Given the description of an element on the screen output the (x, y) to click on. 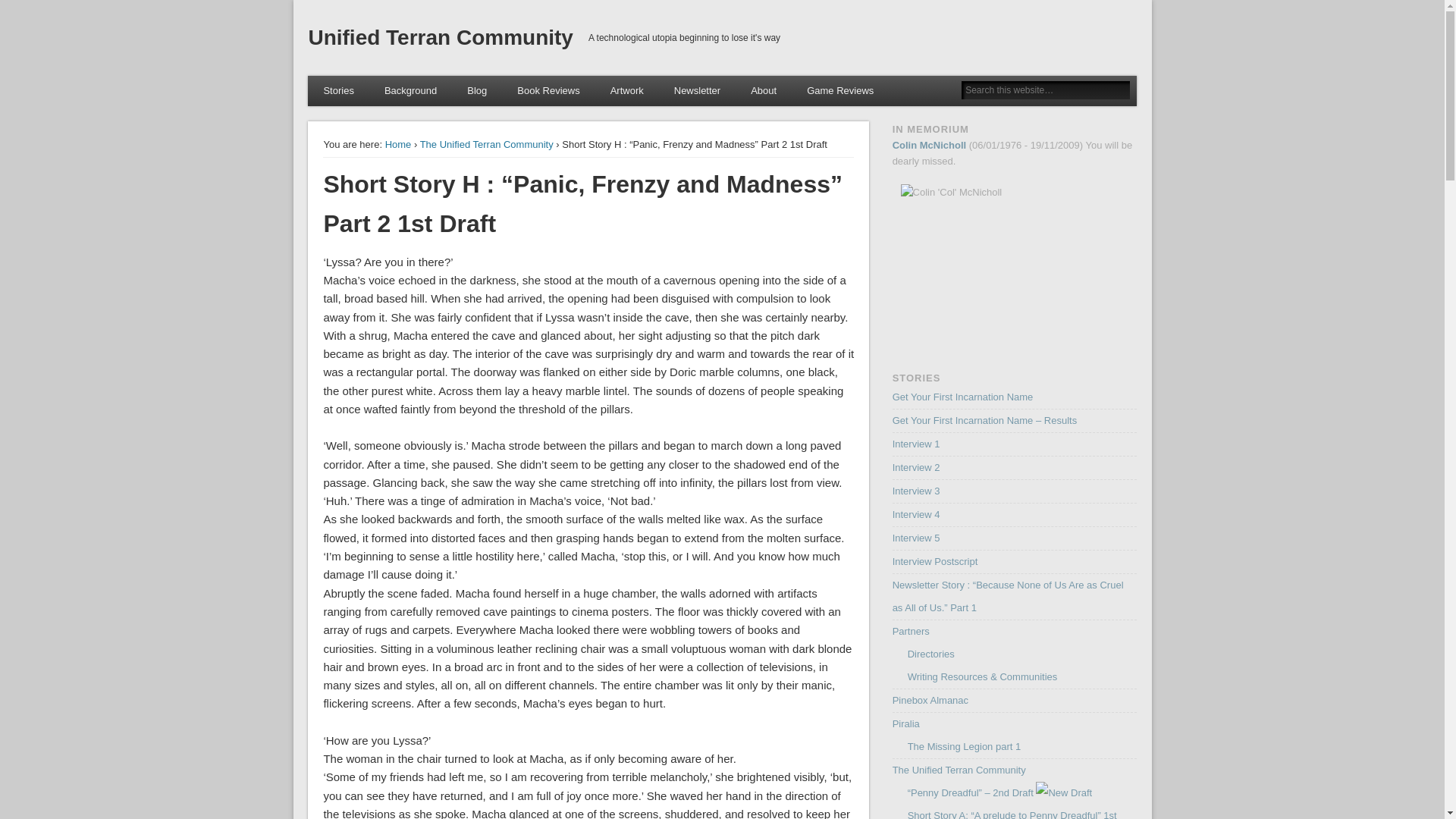
Blog (476, 91)
Pinebox Almanac (930, 699)
Piralia (906, 723)
The Missing Legion part 1 (964, 746)
Book Reviews (548, 91)
Interview 3 (916, 490)
The Unified Terran Community (959, 769)
Partners (911, 631)
Interview 2 (916, 467)
Newsletter (697, 91)
